Given the description of an element on the screen output the (x, y) to click on. 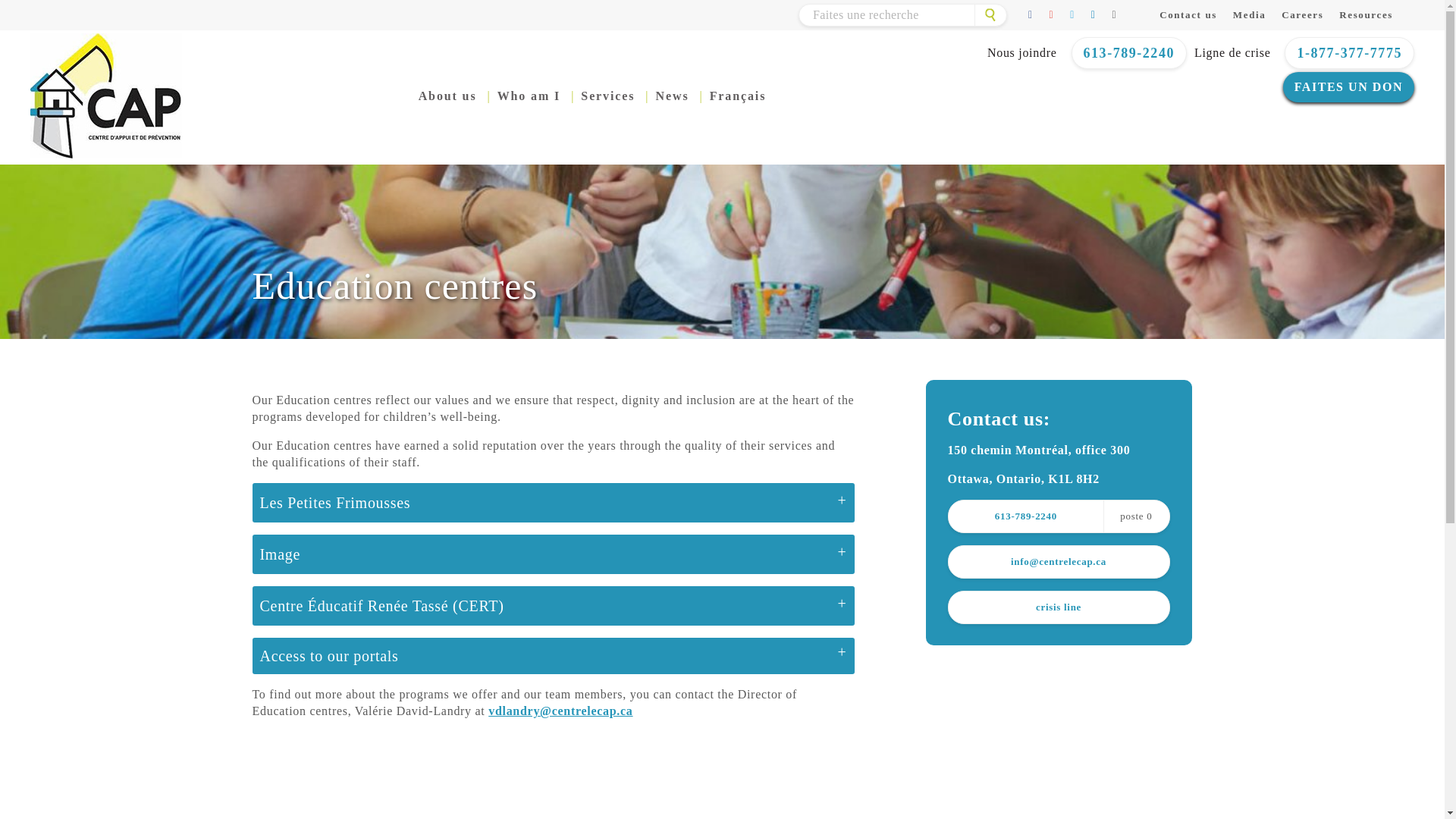
Who am I (528, 95)
About us (448, 95)
Services (607, 95)
Careers (1302, 14)
Media (1249, 14)
Contact us (1187, 14)
Resources (1366, 14)
